Given the description of an element on the screen output the (x, y) to click on. 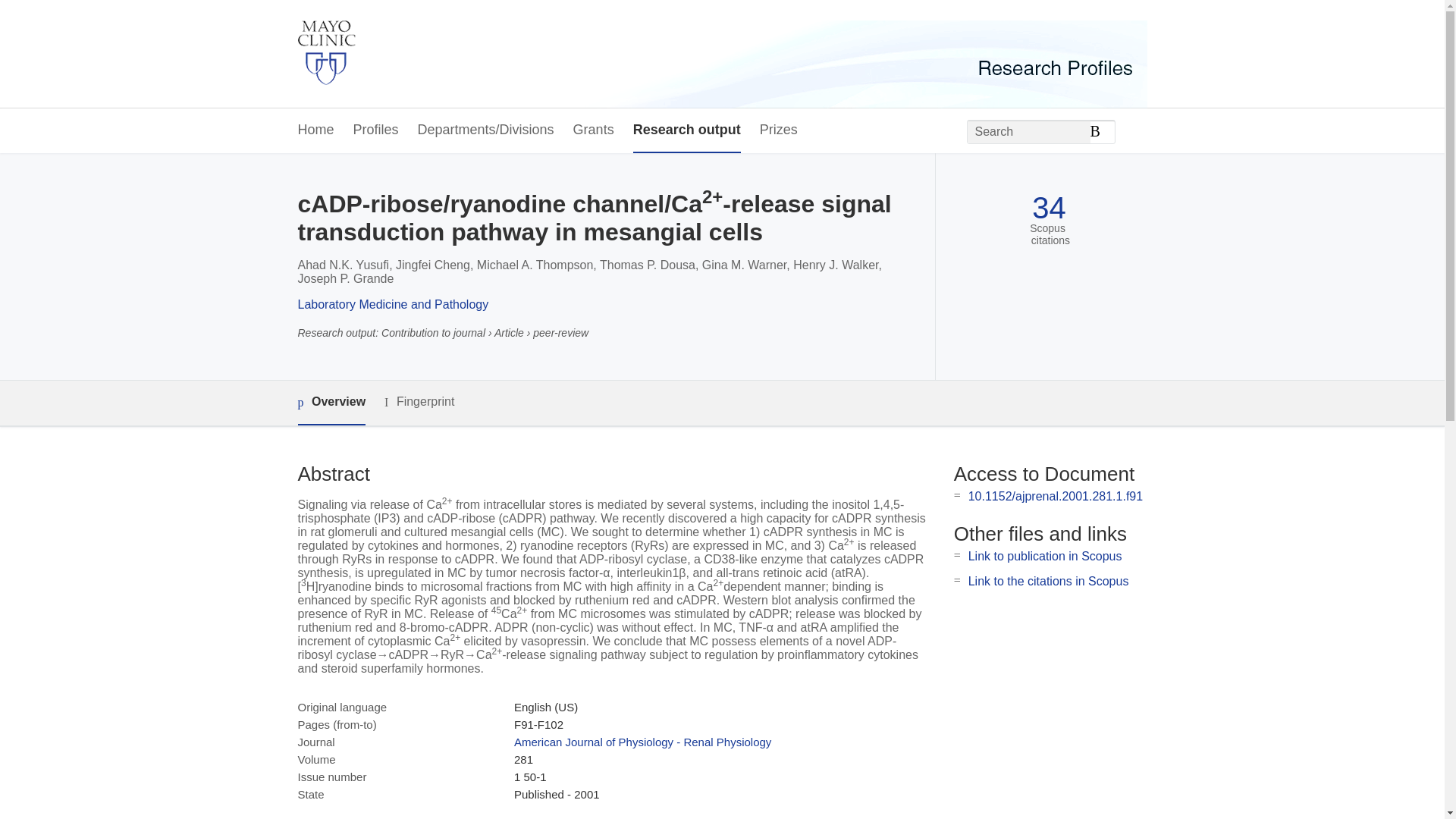
Fingerprint (419, 402)
Research output (687, 130)
34 (1048, 207)
American Journal of Physiology - Renal Physiology (642, 741)
Overview (331, 402)
Link to publication in Scopus (1045, 555)
Grants (593, 130)
Link to the citations in Scopus (1048, 581)
Laboratory Medicine and Pathology (392, 304)
